Given the description of an element on the screen output the (x, y) to click on. 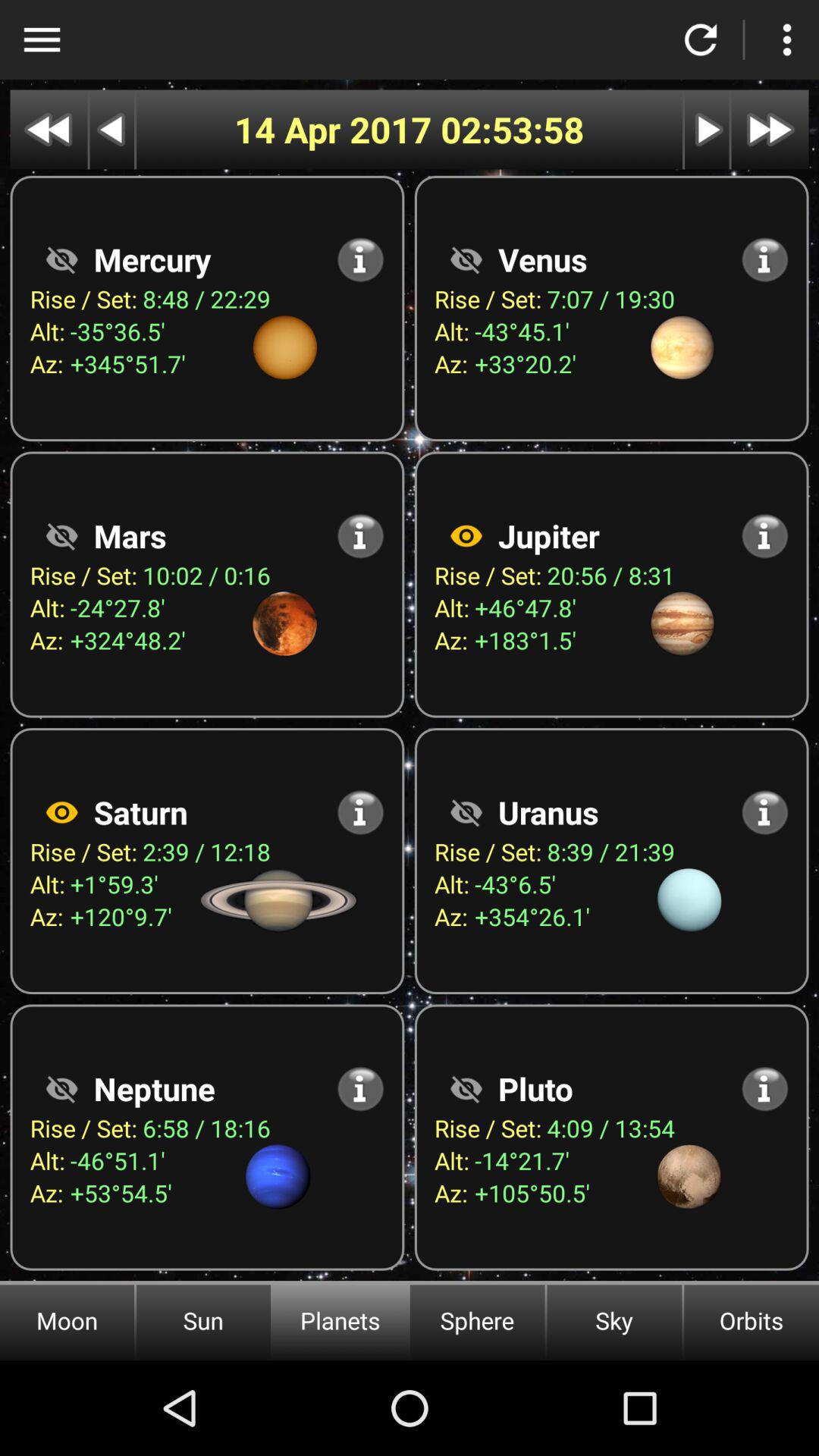
rewind the time (48, 129)
